Given the description of an element on the screen output the (x, y) to click on. 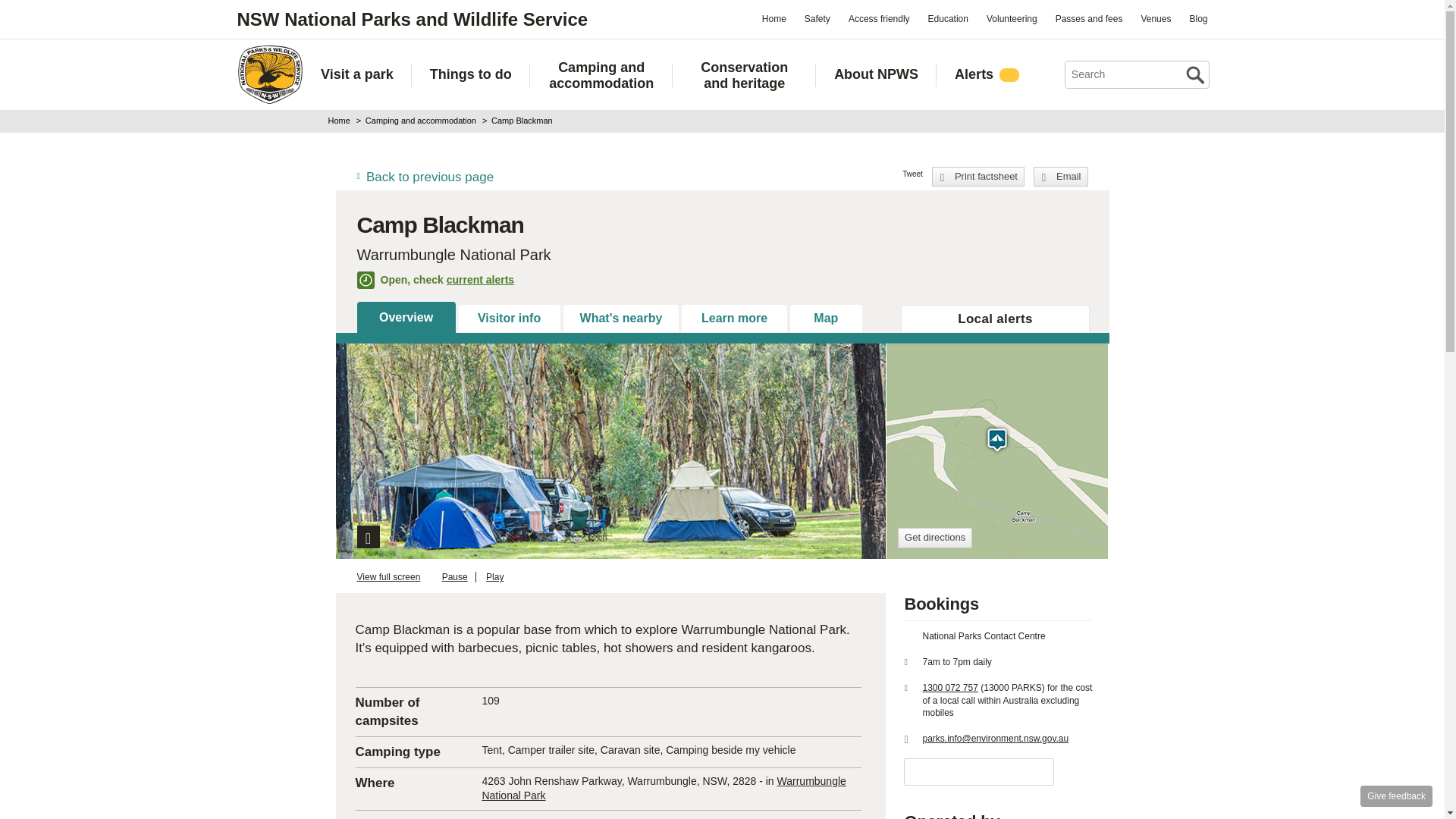
About NPWS (876, 74)
Education (947, 18)
Home (773, 18)
Print-friendly version of these webpages (978, 176)
Home (268, 74)
Camping and accommodation (601, 75)
Volunteering (1011, 18)
Blog (1197, 18)
Access friendly (879, 18)
Conservation and heritage (743, 75)
